Given the description of an element on the screen output the (x, y) to click on. 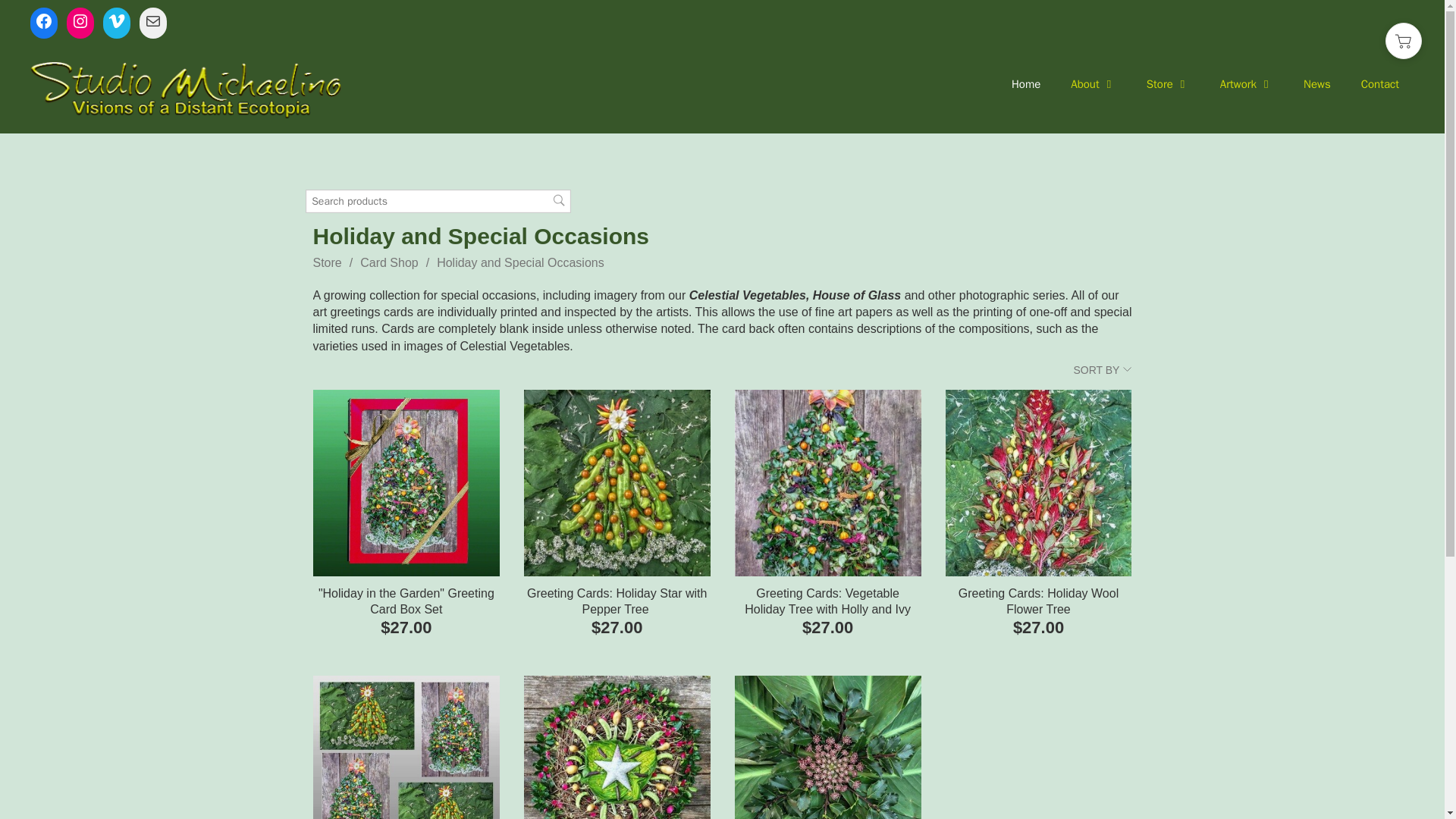
Greeting Cards: Holiday Wool Flower Tree (1038, 482)
News (1316, 84)
Greeting Cards: Vegetable Holiday Tree with Holly and Ivy (828, 482)
Vimeo (117, 21)
"Holiday in the Garden" Greeting Card Box Set (406, 482)
Greeting Cards: Celestial Vegetable Holiday Trees (406, 747)
Artwork (1246, 84)
Mail (153, 21)
Home (1025, 84)
Facebook (44, 21)
Contact (1379, 84)
About (1093, 84)
Store (1168, 84)
Instagram (80, 21)
